Given the description of an element on the screen output the (x, y) to click on. 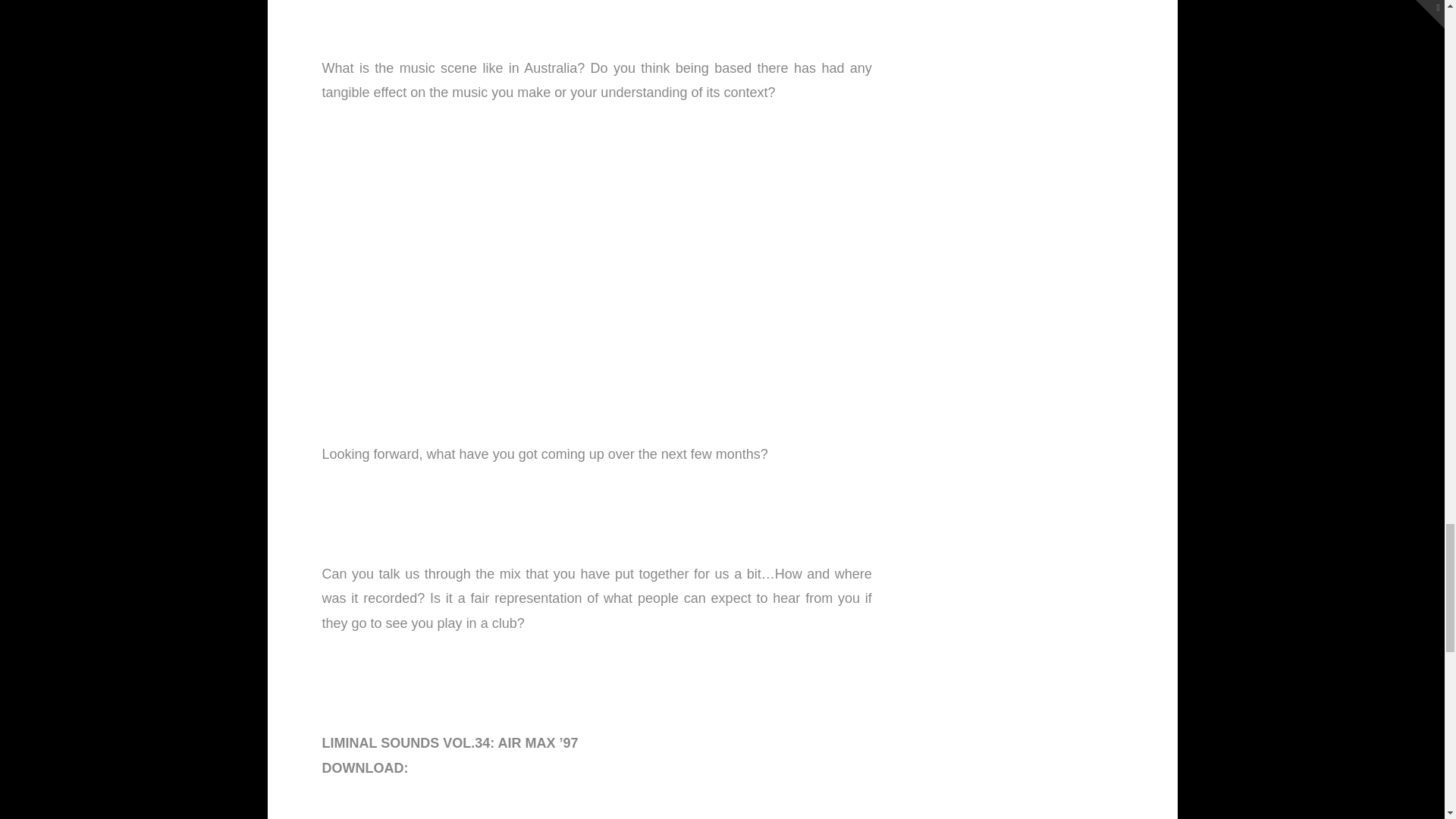
Liminal Sounds Vol.34: Air Max '97 (430, 767)
